Given the description of an element on the screen output the (x, y) to click on. 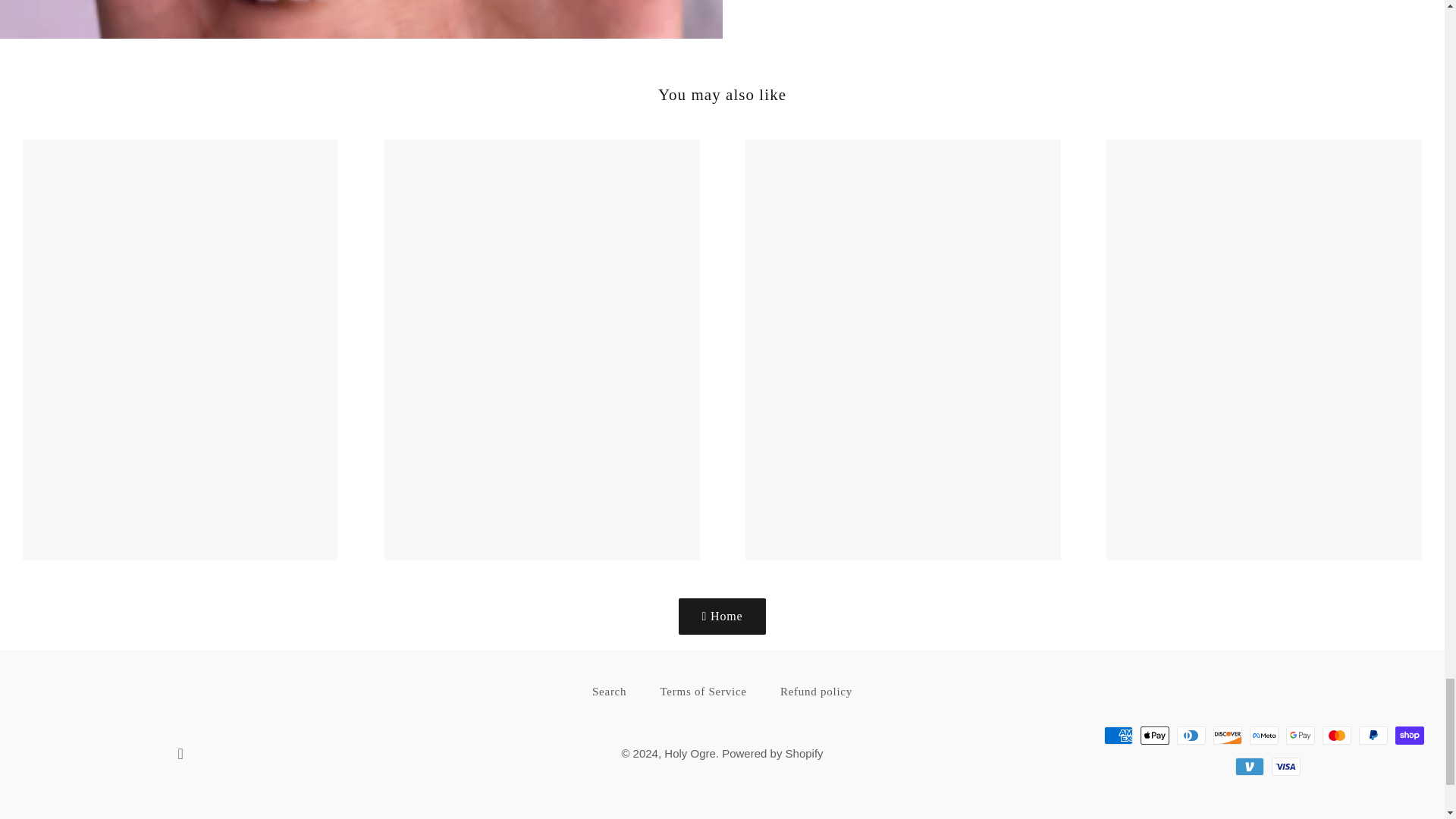
Discover (1226, 735)
Mastercard (1336, 735)
Home (722, 616)
Terms of Service (703, 691)
Meta Pay (1263, 735)
Shop Pay (1408, 735)
Powered by Shopify (772, 753)
Apple Pay (1154, 735)
Search (609, 691)
Diners Club (1190, 735)
Holy Ogre on Instagram (180, 754)
American Express (1117, 735)
Google Pay (1299, 735)
Holy Ogre (689, 753)
Refund policy (816, 691)
